Given the description of an element on the screen output the (x, y) to click on. 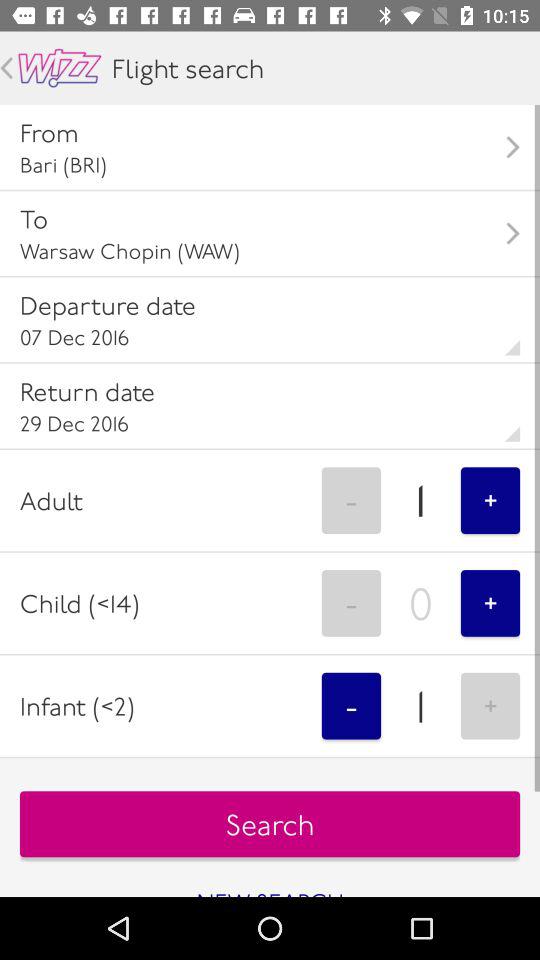
launch the item to the right of infant (<2) (351, 705)
